Given the description of an element on the screen output the (x, y) to click on. 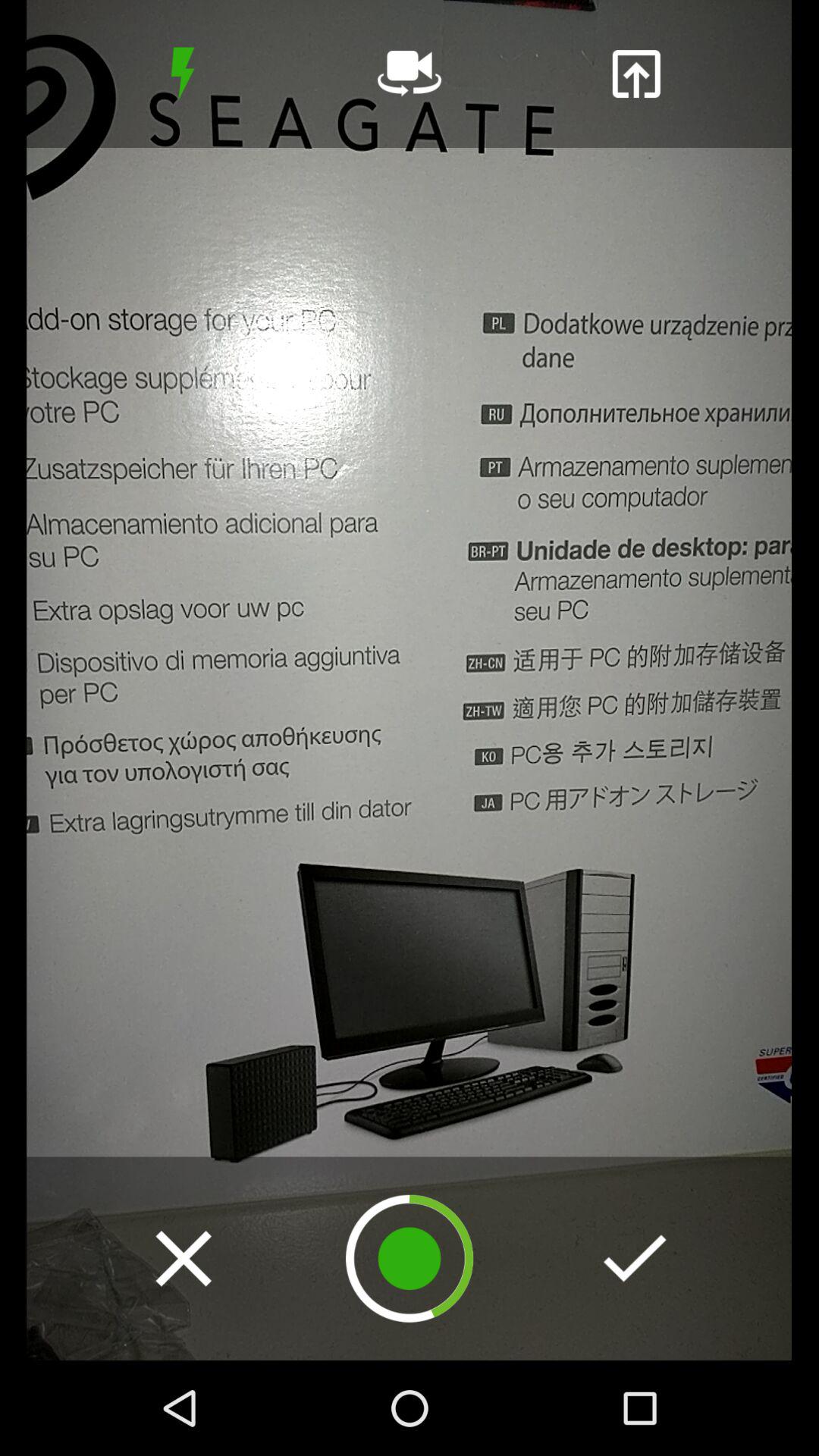
open item at the top (409, 73)
